Given the description of an element on the screen output the (x, y) to click on. 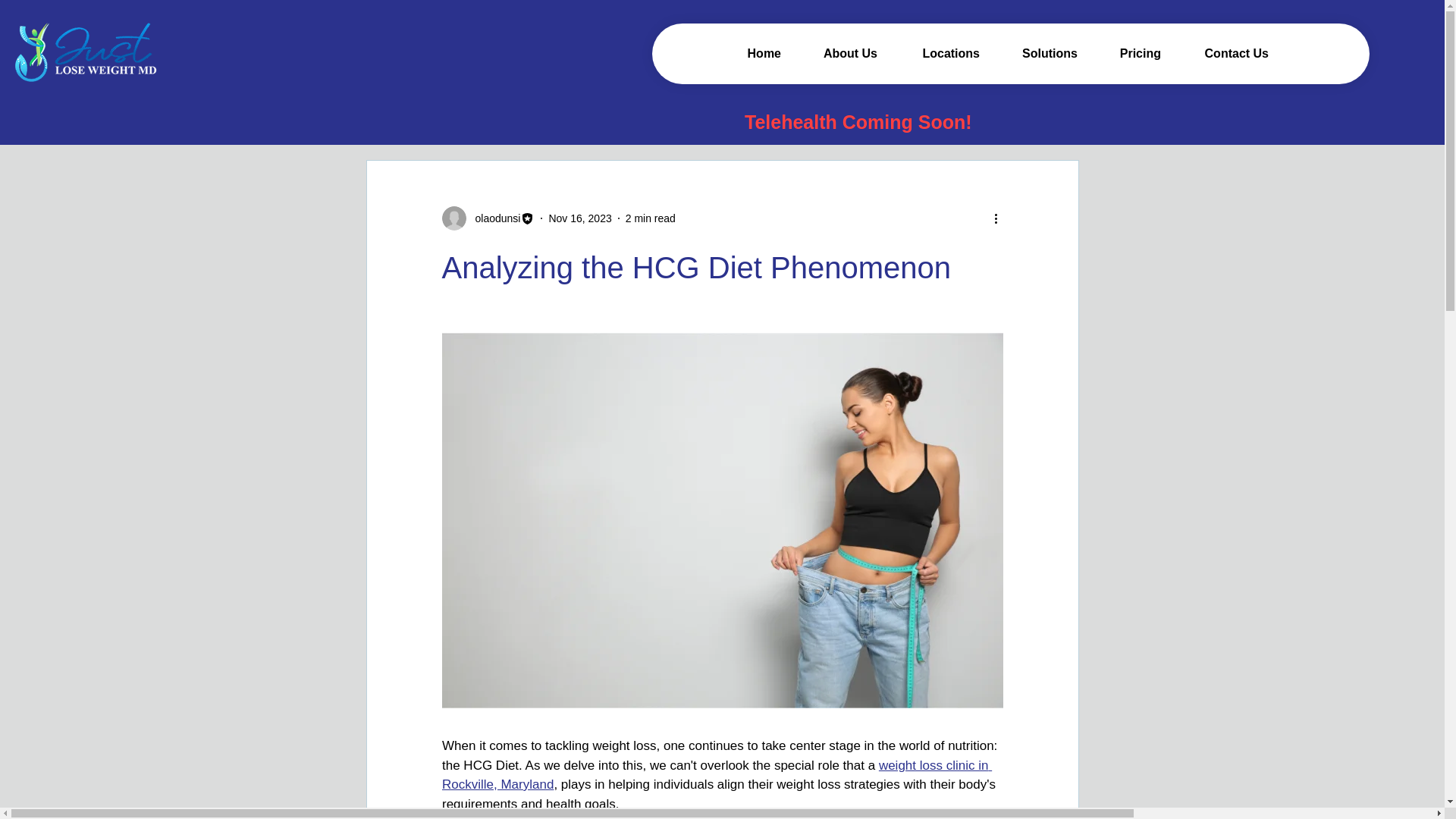
Nov 16, 2023 (579, 218)
Solutions (1040, 53)
2 min read (650, 218)
About Us (840, 53)
olaodunsi (487, 218)
olaodunsi (492, 218)
Locations (939, 53)
Home (753, 53)
Pricing (1130, 53)
Contact Us (1225, 53)
